Given the description of an element on the screen output the (x, y) to click on. 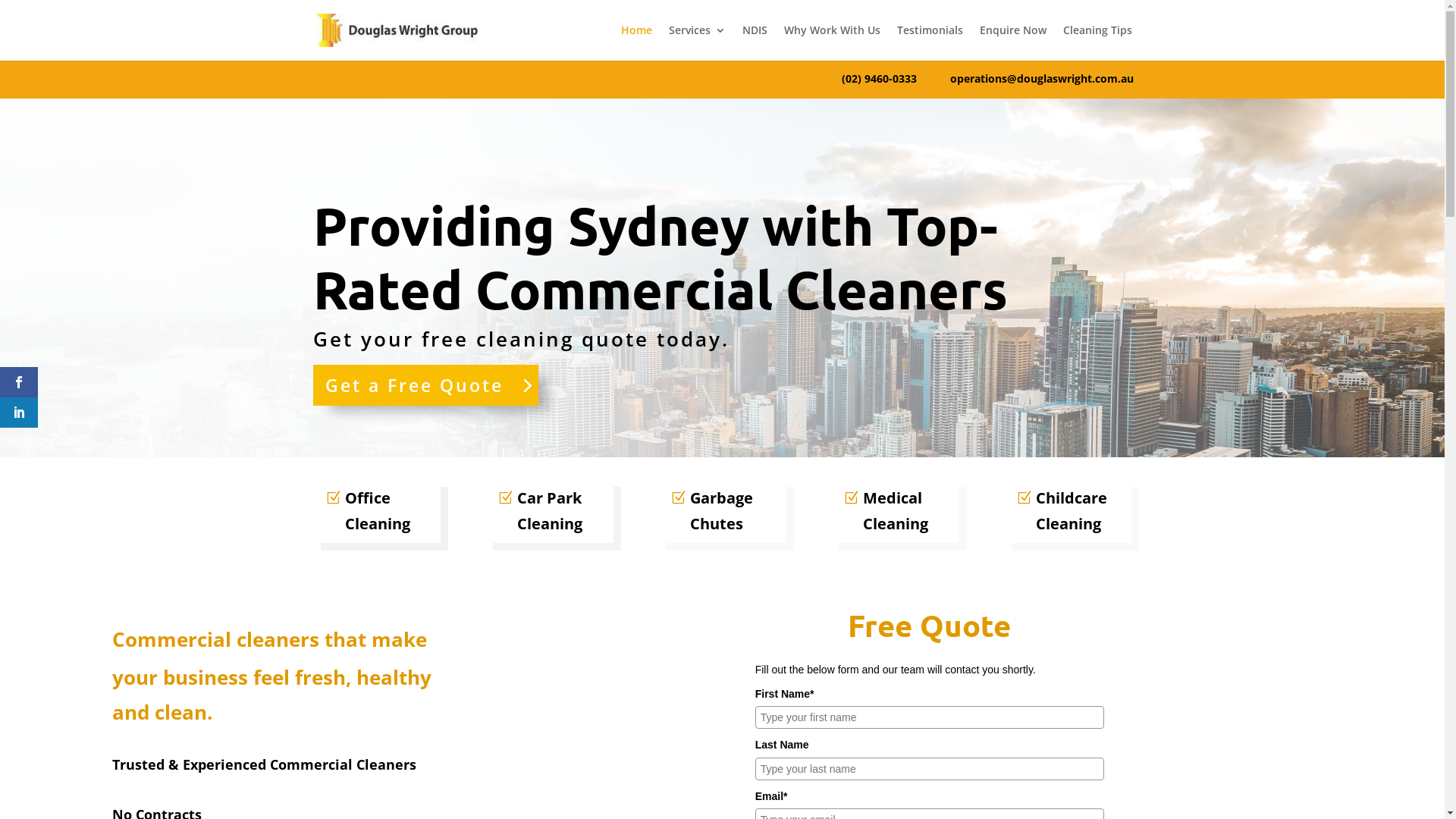
operations@douglaswright.com.au Element type: text (1041, 78)
Get a Free Quote Element type: text (424, 384)
Services Element type: text (696, 42)
Office Cleaning Element type: text (375, 510)
Car Park Cleaning Element type: text (548, 510)
Enquire Now Element type: text (1012, 42)
(02) 9460-0333           Element type: text (895, 78)
Cleaning Tips Element type: text (1097, 42)
Testimonials Element type: text (929, 42)
Medical Cleaning Element type: text (894, 510)
Garbage Chutes Element type: text (721, 510)
NDIS Element type: text (753, 42)
Why Work With Us Element type: text (832, 42)
Home Element type: text (635, 42)
Childcare Cleaning Element type: text (1067, 510)
